Given the description of an element on the screen output the (x, y) to click on. 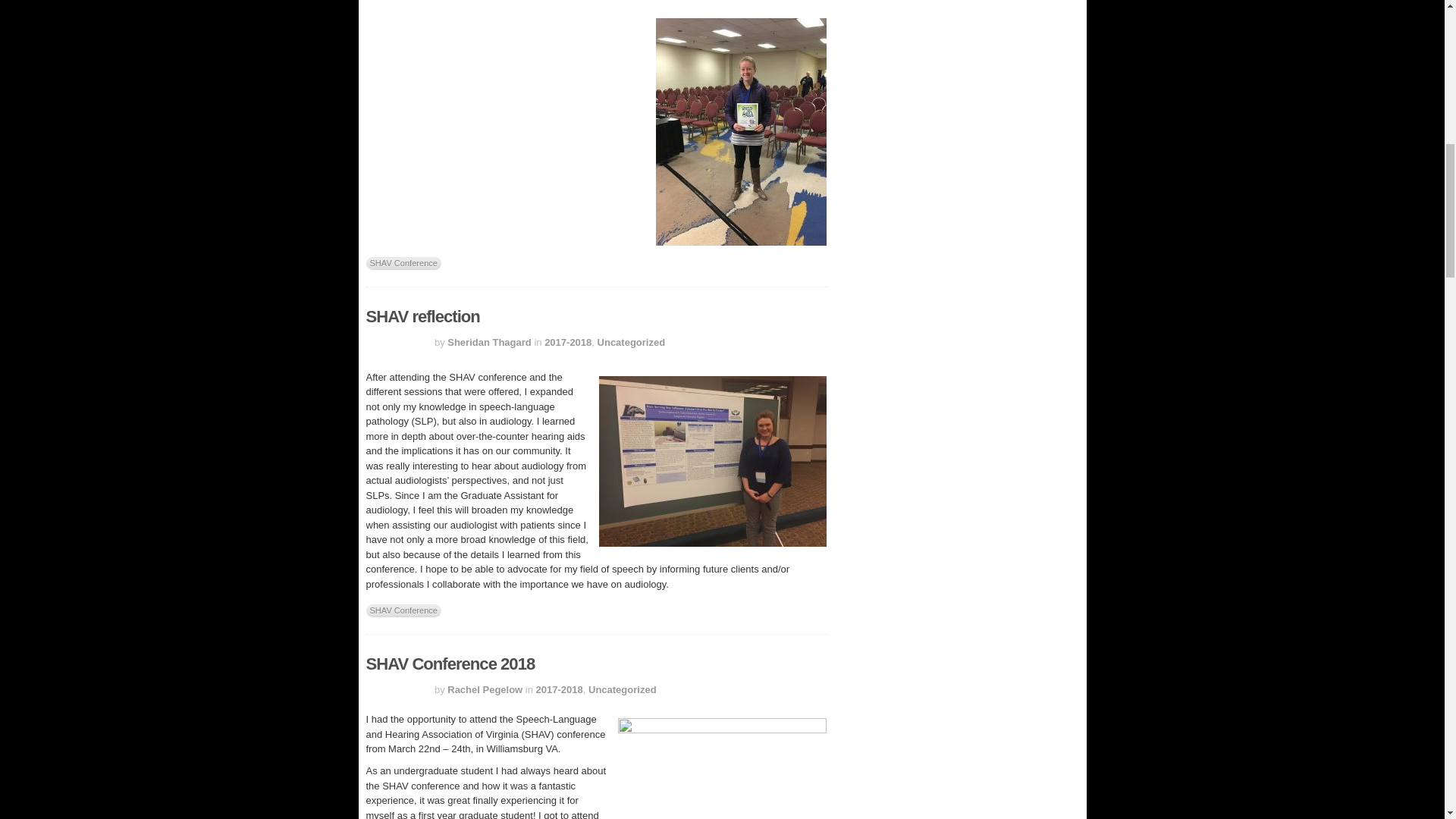
2017-2018 (567, 342)
Uncategorized (630, 342)
SHAV Conference (403, 263)
SHAV Conference 2018 (449, 663)
SHAV Conference (403, 610)
SHAV reflection (422, 316)
Posts by Sheridan Thagard (488, 342)
Permalink to SHAV Conference 2018 (449, 663)
Rachel Pegelow (484, 689)
2017-2018 (559, 689)
Uncategorized (622, 689)
Sheridan Thagard (488, 342)
Posts by Rachel Pegelow (484, 689)
Permalink to SHAV reflection (422, 316)
